Given the description of an element on the screen output the (x, y) to click on. 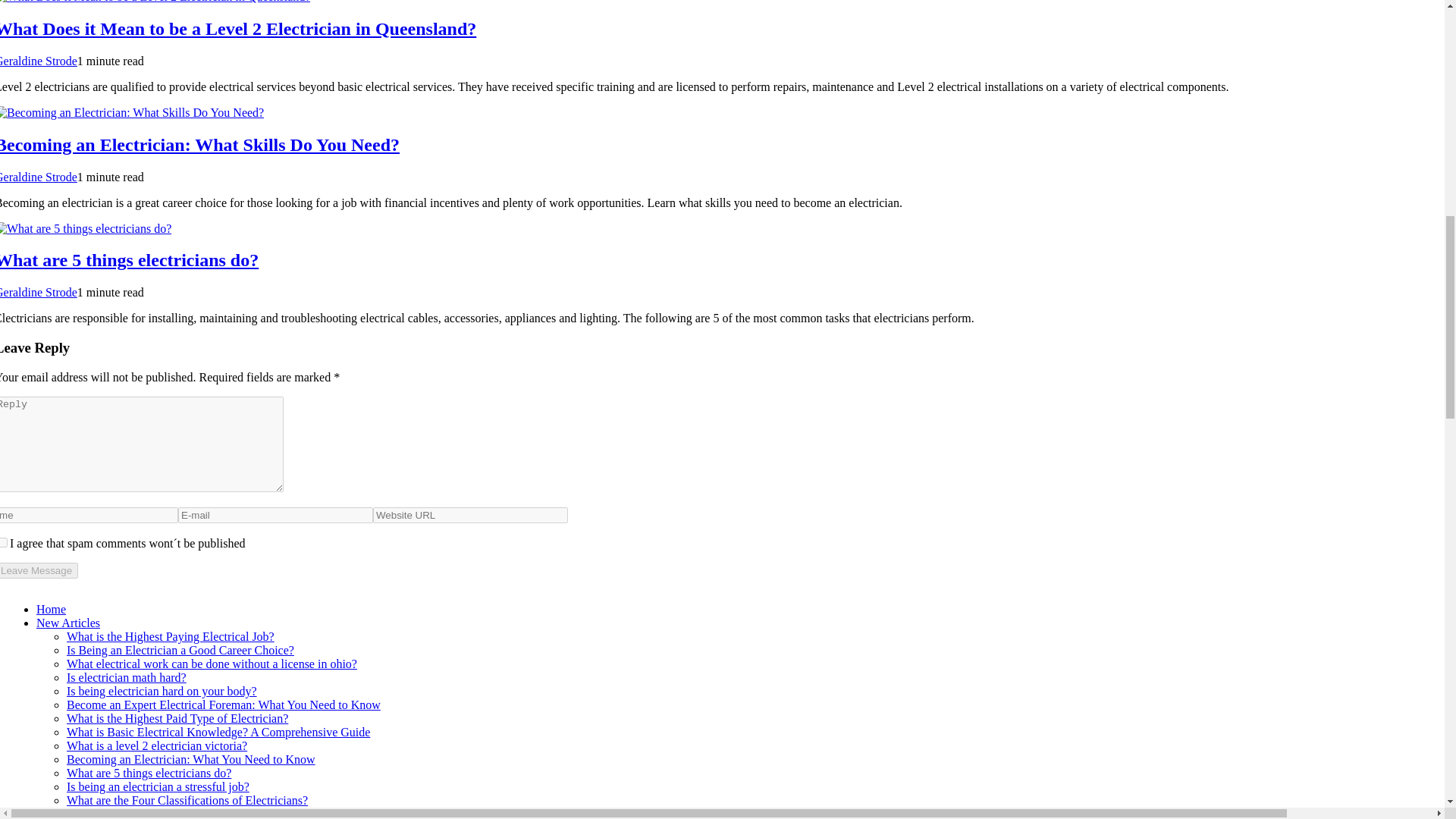
Leave Message (39, 570)
What are 5 things electricians do? (129, 260)
What Does it Mean to be a Level 2 Electrician in Queensland? (238, 28)
Posts by Geraldine Strode (38, 291)
Becoming an Electrician: What Skills Do You Need? (199, 144)
Geraldine Strode (38, 176)
Posts by Geraldine Strode (38, 176)
Posts by Geraldine Strode (38, 60)
Geraldine Strode (38, 291)
Geraldine Strode (38, 60)
Leave Message (39, 570)
